Given the description of an element on the screen output the (x, y) to click on. 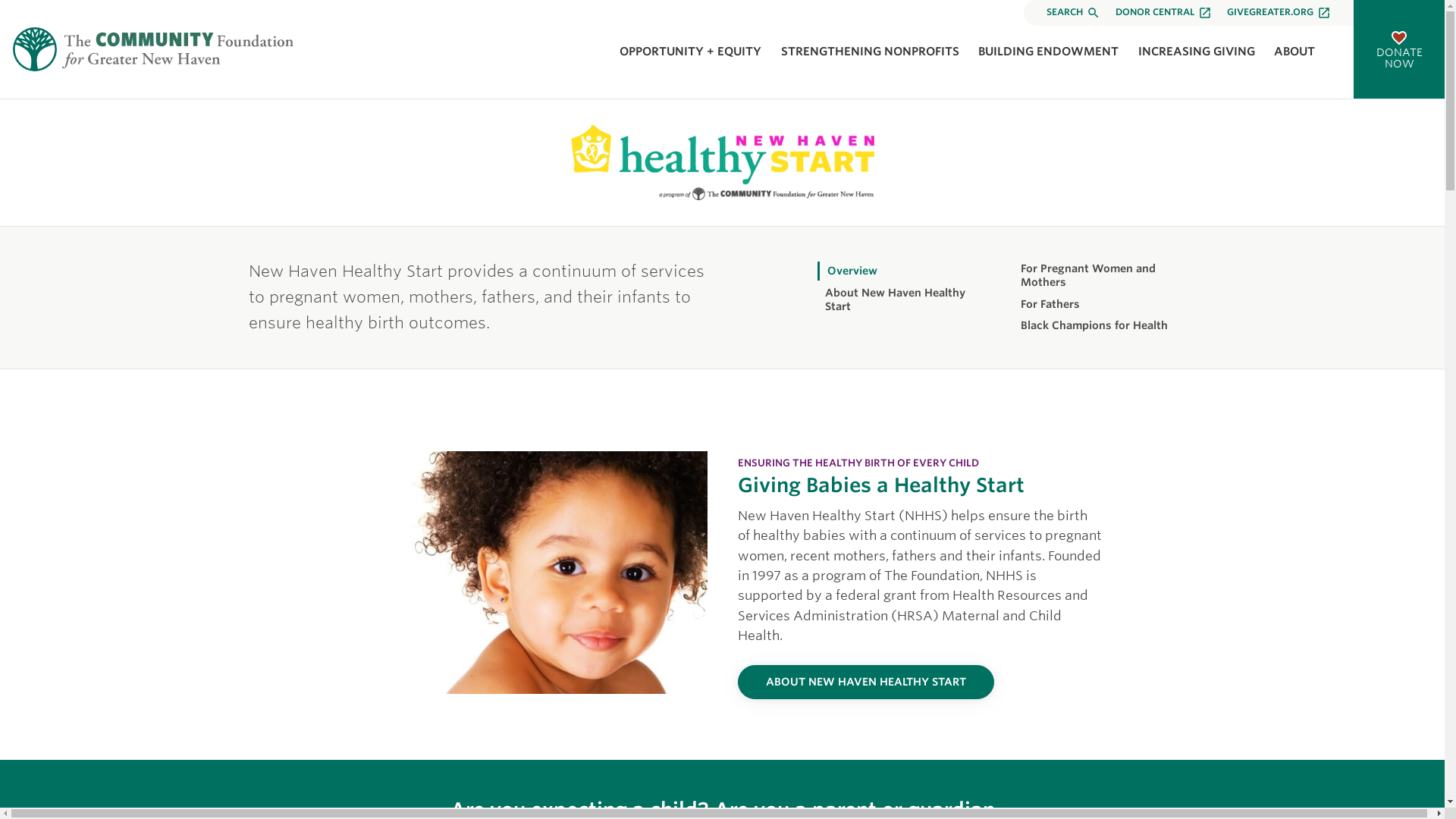
SEARCH (1073, 12)
STRENGTHENING NONPROFITS (869, 52)
GIVEGREATER.ORG (1278, 12)
DONOR CENTRAL (1163, 12)
